Given the description of an element on the screen output the (x, y) to click on. 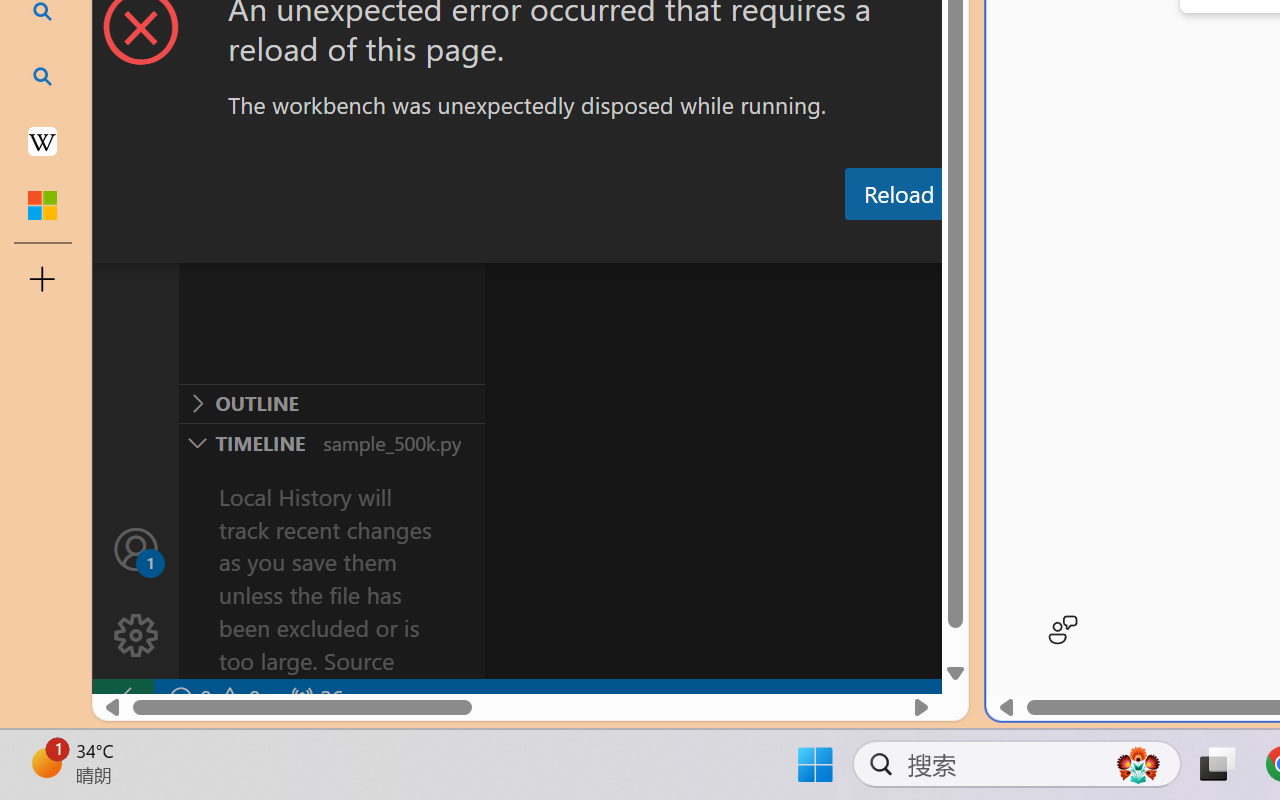
Earth - Wikipedia (42, 140)
Manage (135, 635)
remote (122, 698)
No Problems (212, 698)
Reload (898, 193)
Output (Ctrl+Shift+U) (696, 243)
Problems (Ctrl+Shift+M) (567, 243)
